Given the description of an element on the screen output the (x, y) to click on. 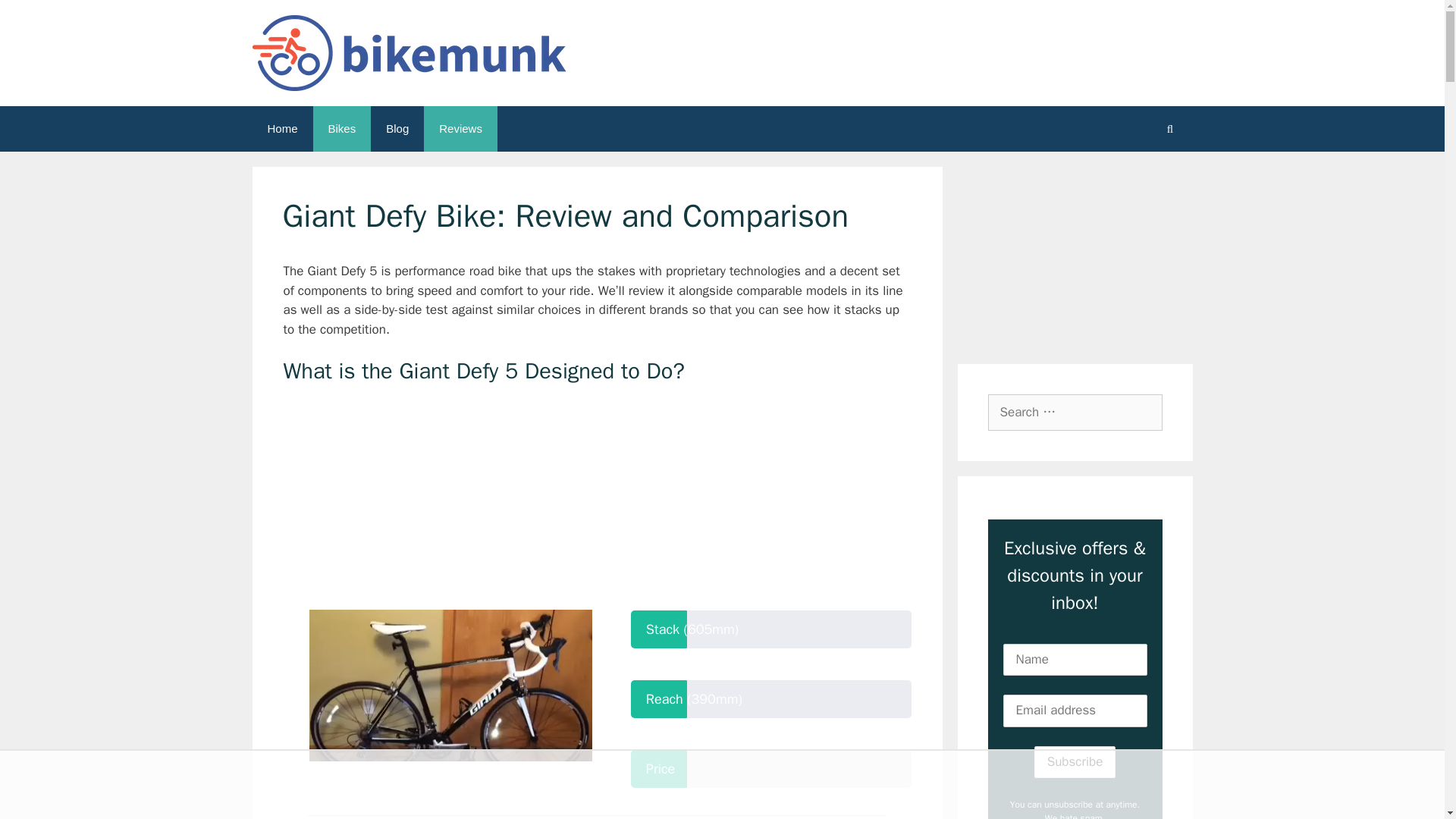
Bikes (342, 128)
Blog (397, 128)
giantdefy5 (450, 685)
Search for: (1074, 411)
Subscribe (1074, 762)
Reviews (460, 128)
Subscribe (1074, 762)
Home (282, 128)
Search (35, 18)
